Given the description of an element on the screen output the (x, y) to click on. 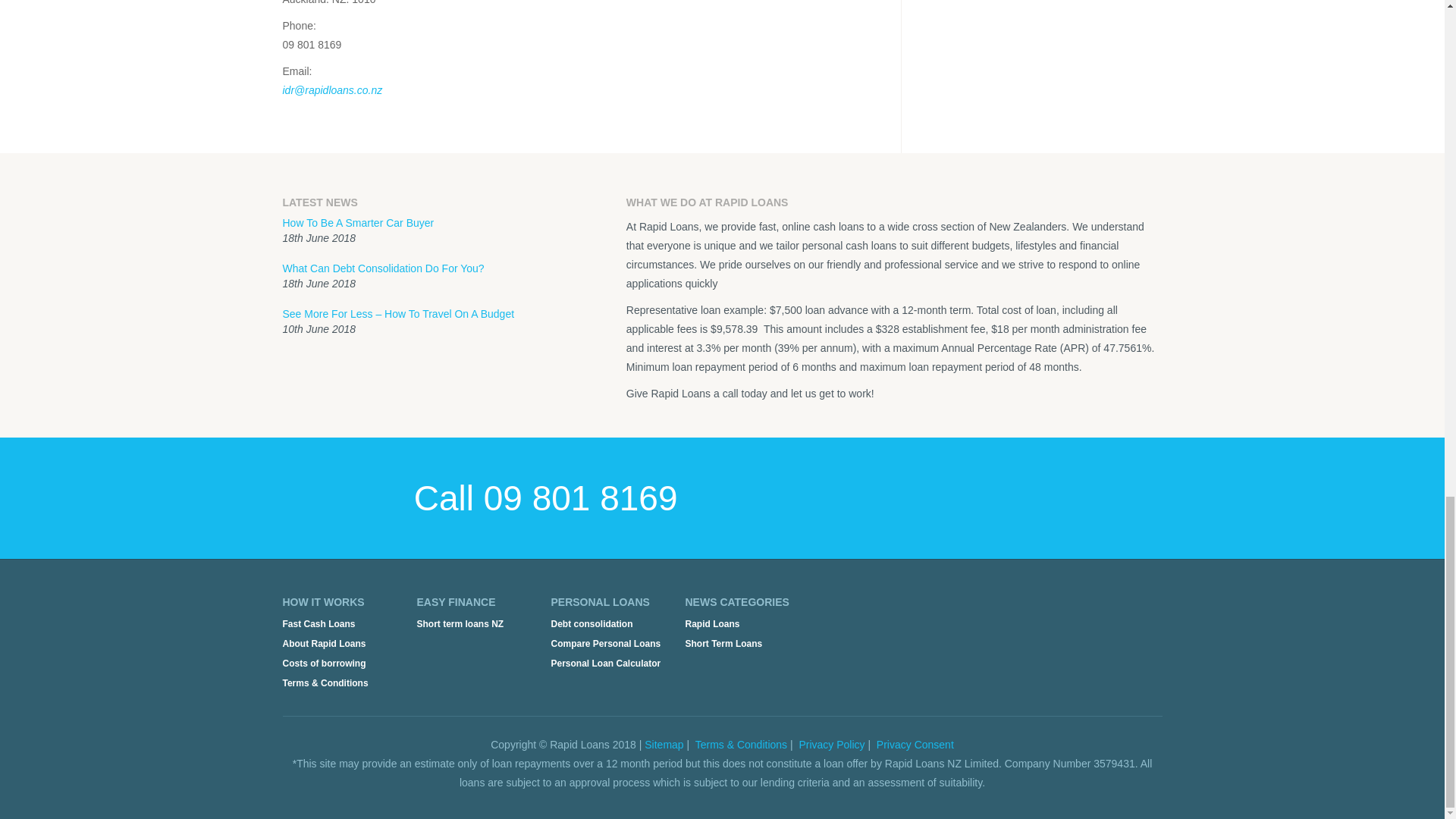
Rapid Loans (712, 624)
Customer Booklet (741, 744)
Compare Personal Loans (605, 643)
Debt consolidation (590, 624)
What Can Debt Consolidation Do For You? (382, 268)
Privacy Consent (914, 744)
Privacy Policy (830, 744)
Privacy statement (830, 744)
How To Be A Smarter Car Buyer (357, 223)
Sitemap (663, 744)
Personal Loan Calculator (605, 663)
About Rapid Loans (323, 643)
Sitemap (663, 744)
Short Term Loans (723, 643)
Costs of borrowing (323, 663)
